Given the description of an element on the screen output the (x, y) to click on. 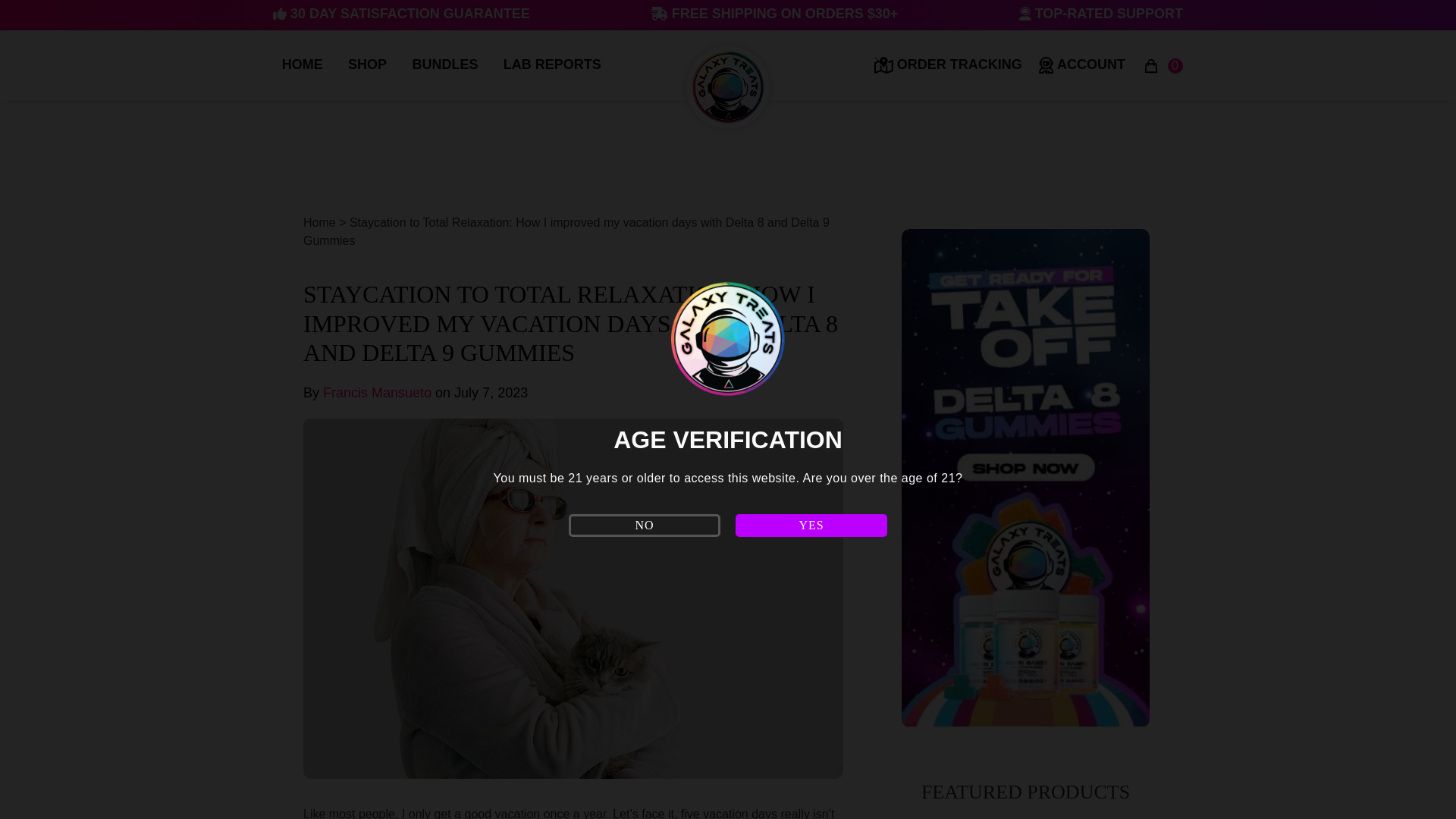
ACCOUNT (1082, 64)
ORDER TRACKING (948, 64)
Help widget launcher (63, 763)
BUNDLES (444, 64)
Home (319, 222)
LAB REPORTS (552, 64)
Francis Mansueto (376, 392)
